Given the description of an element on the screen output the (x, y) to click on. 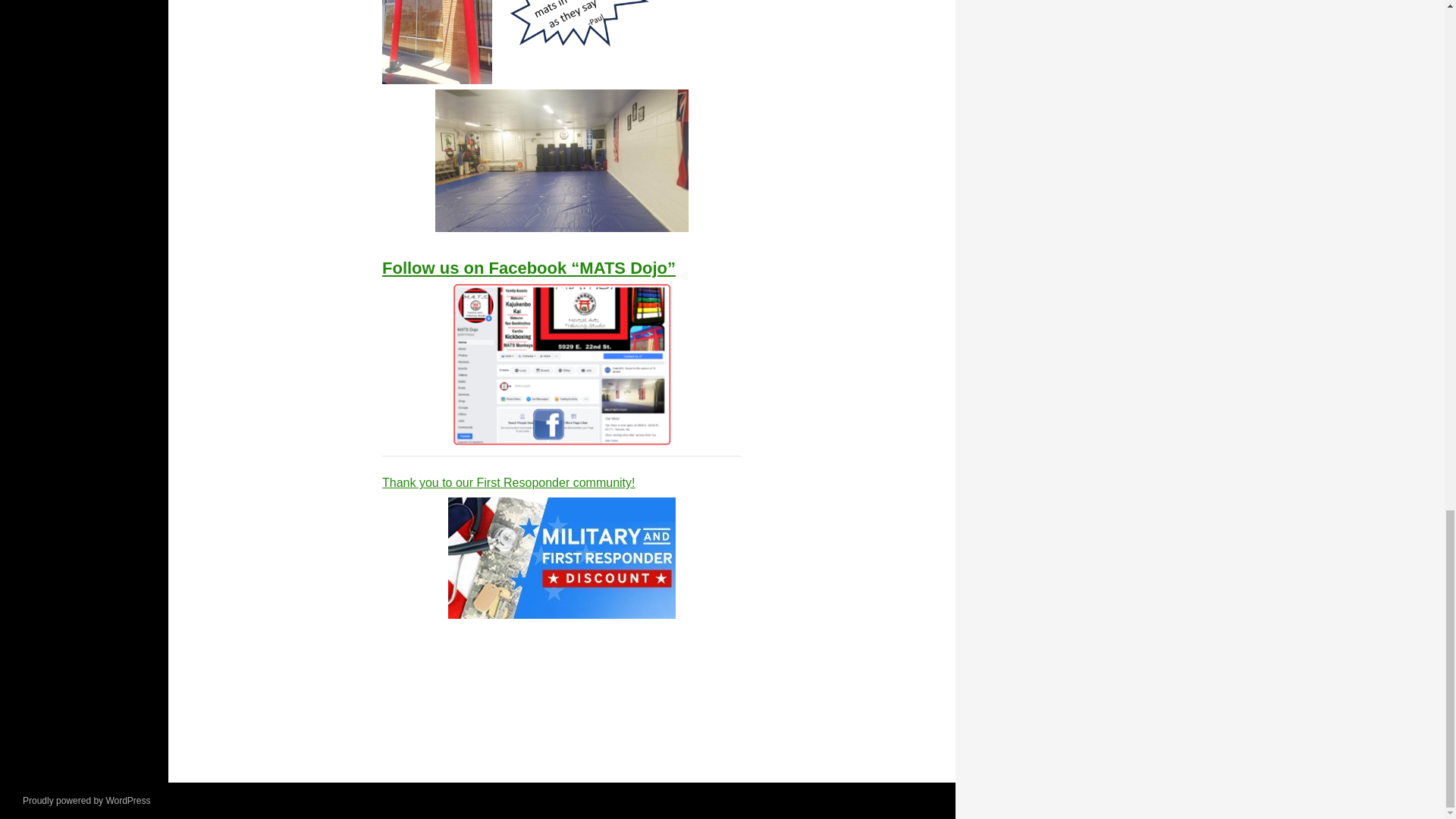
Proudly powered by WordPress (87, 800)
Thank you to our First Resoponder community! (561, 547)
